Given the description of an element on the screen output the (x, y) to click on. 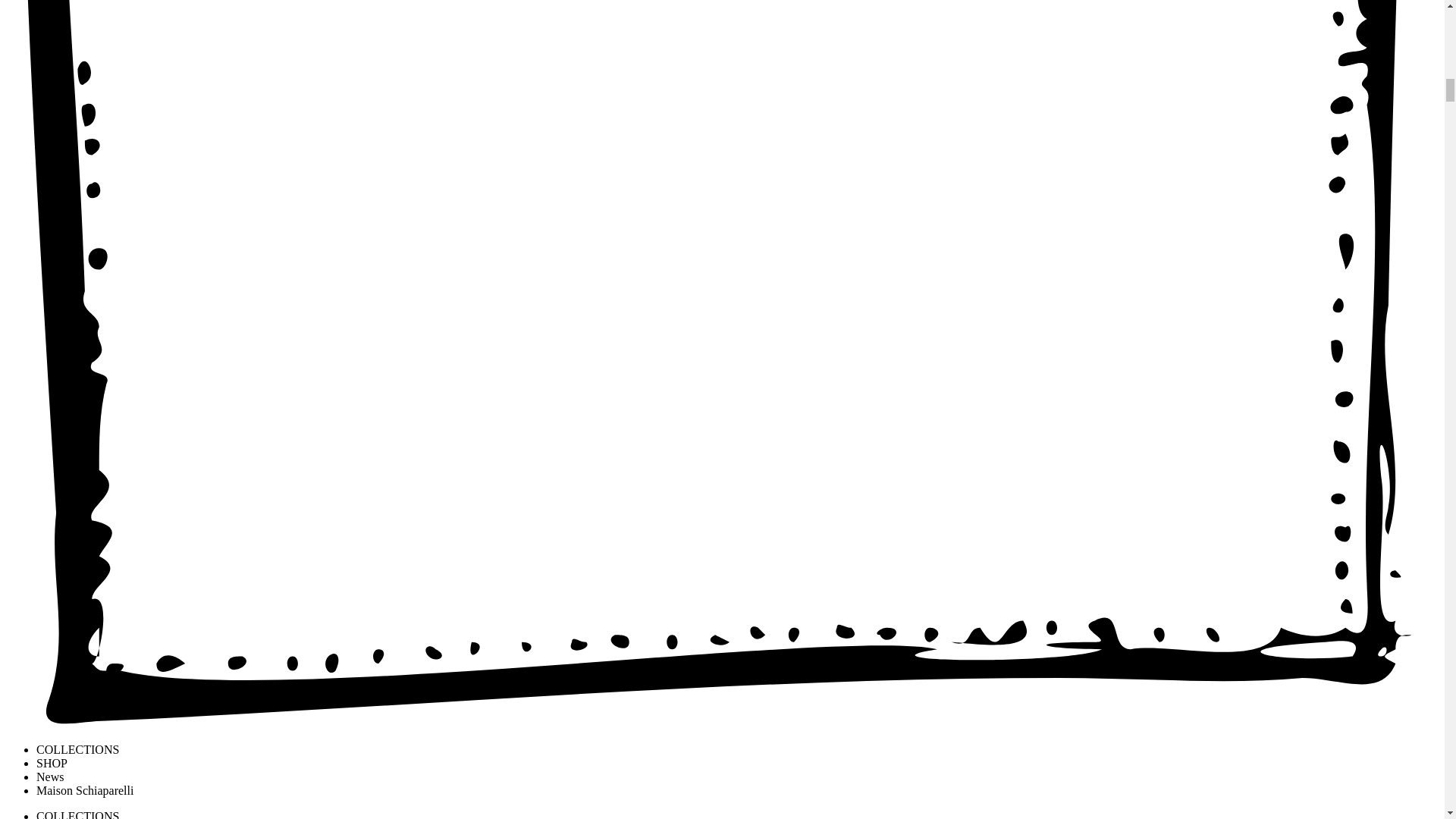
Maison Schiaparelli (84, 789)
SHOP (51, 762)
COLLECTIONS (77, 748)
News (50, 776)
COLLECTIONS (77, 814)
